Given the description of an element on the screen output the (x, y) to click on. 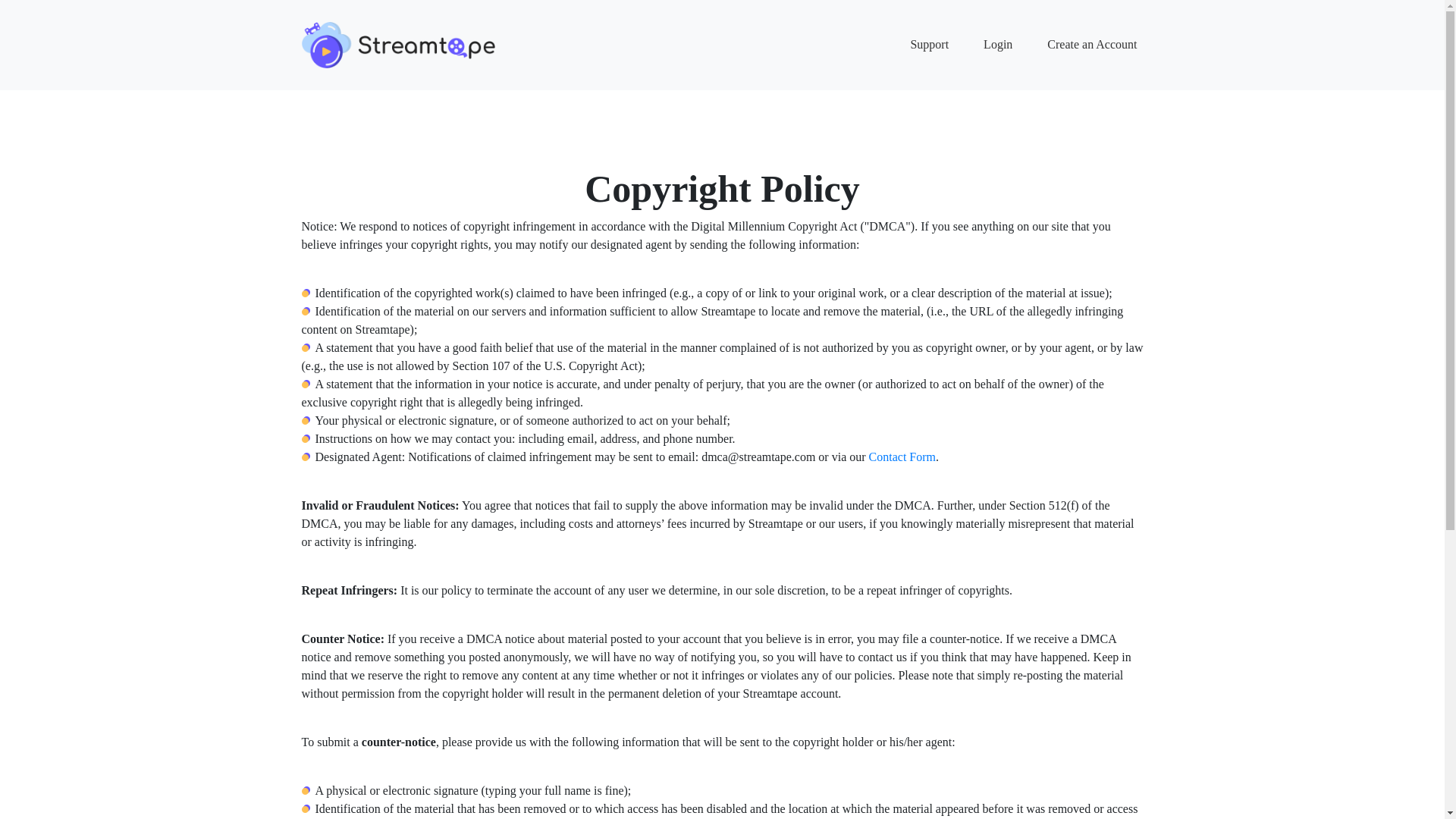
Support (929, 44)
Create an Account (1091, 44)
Contact Form (902, 429)
Login (996, 44)
